Given the description of an element on the screen output the (x, y) to click on. 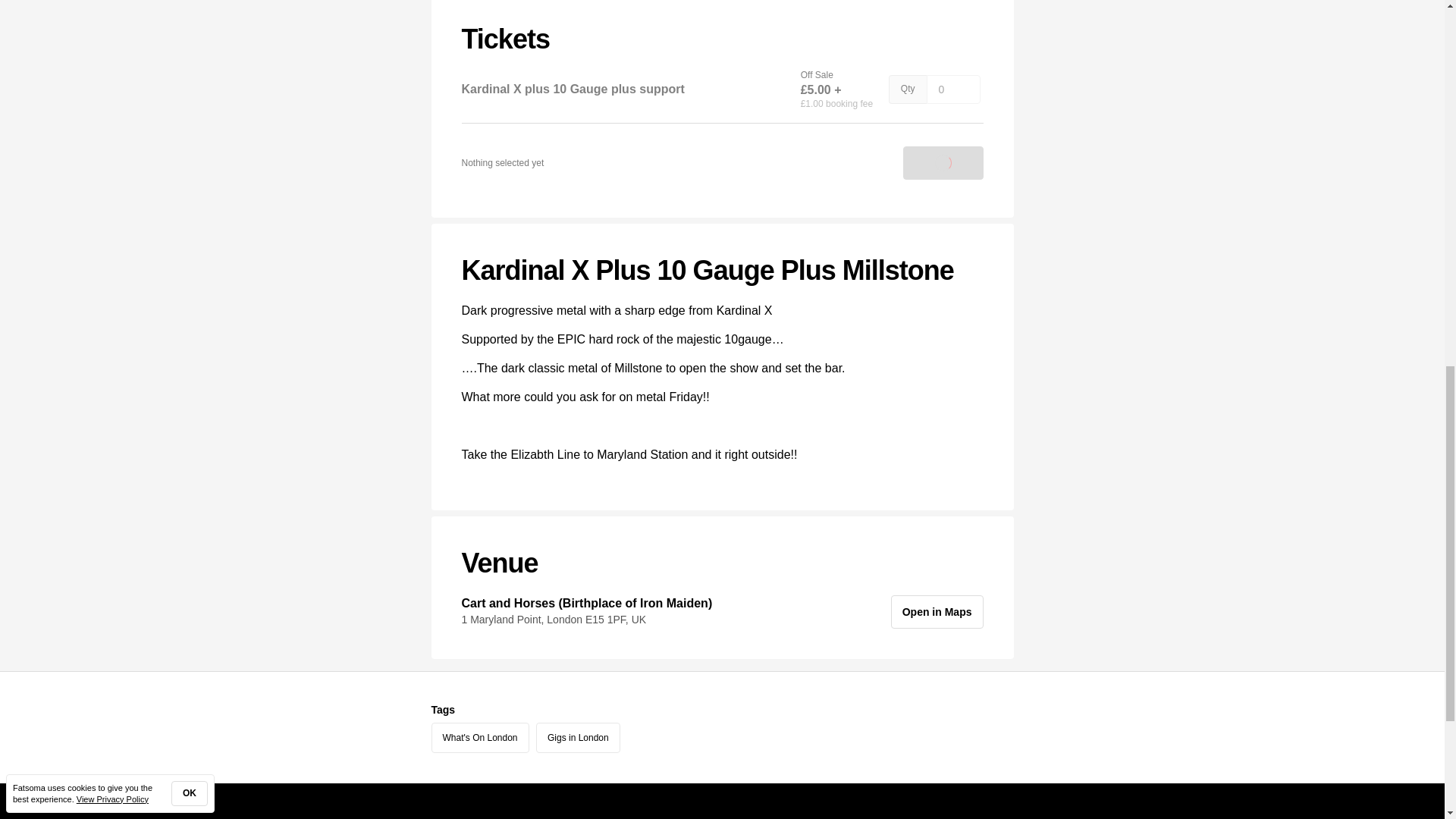
Loading... (943, 162)
Open in Maps (937, 611)
What's On London (479, 737)
Gigs in London (577, 737)
